Given the description of an element on the screen output the (x, y) to click on. 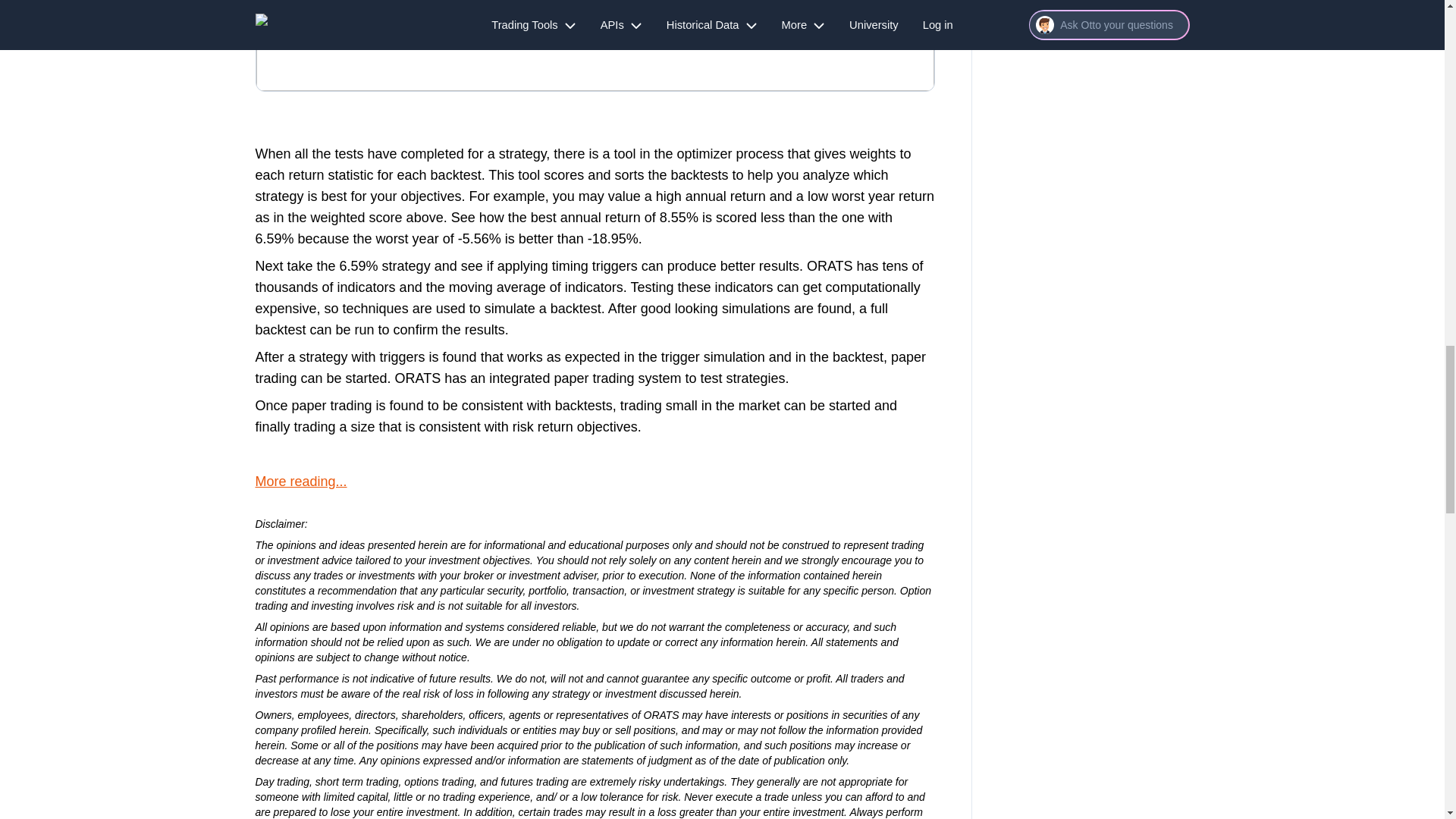
More reading... (300, 481)
